Given the description of an element on the screen output the (x, y) to click on. 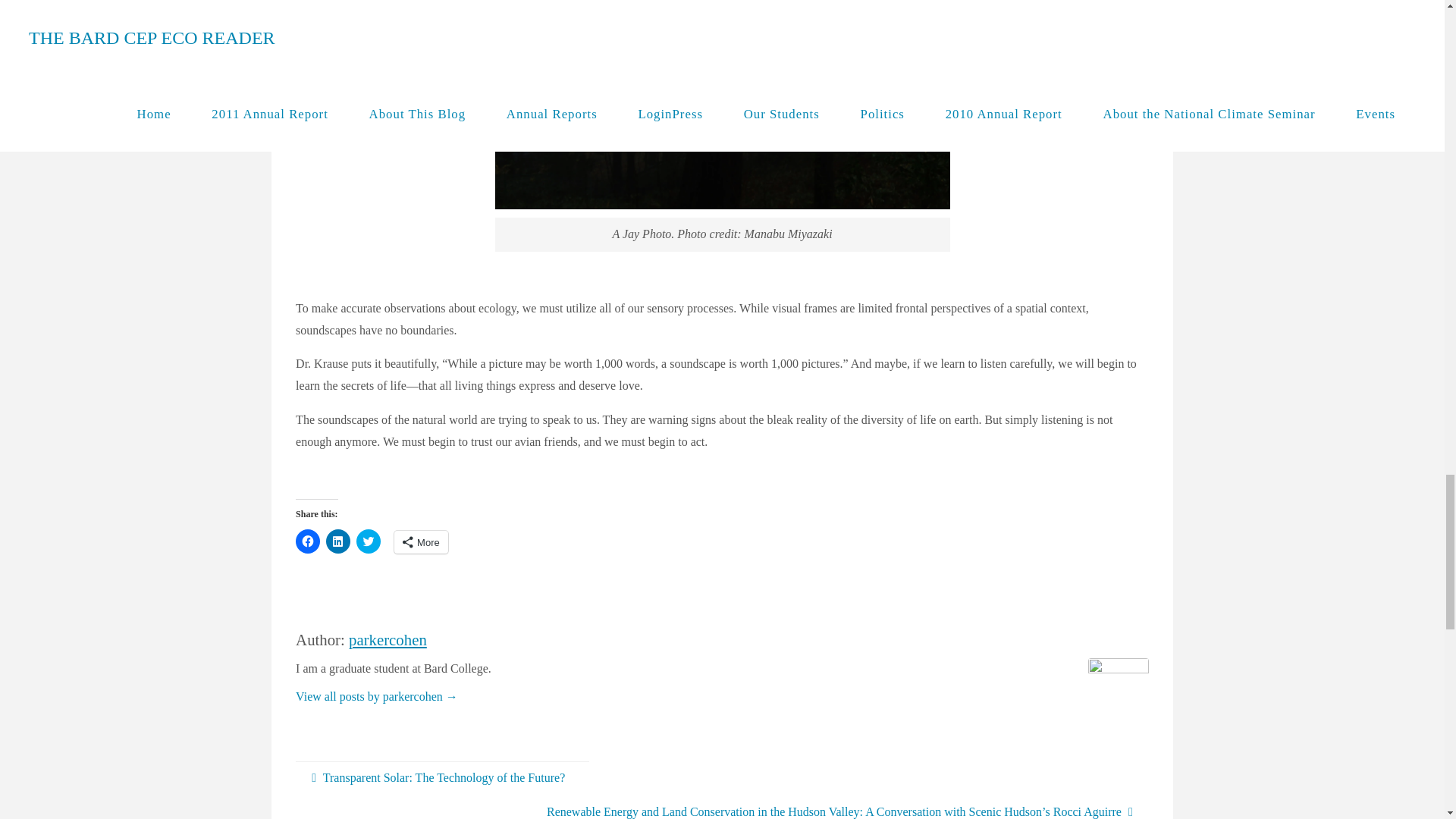
Click to share on LinkedIn (338, 541)
Click to share on Facebook (307, 541)
Click to share on Twitter (368, 541)
